Given the description of an element on the screen output the (x, y) to click on. 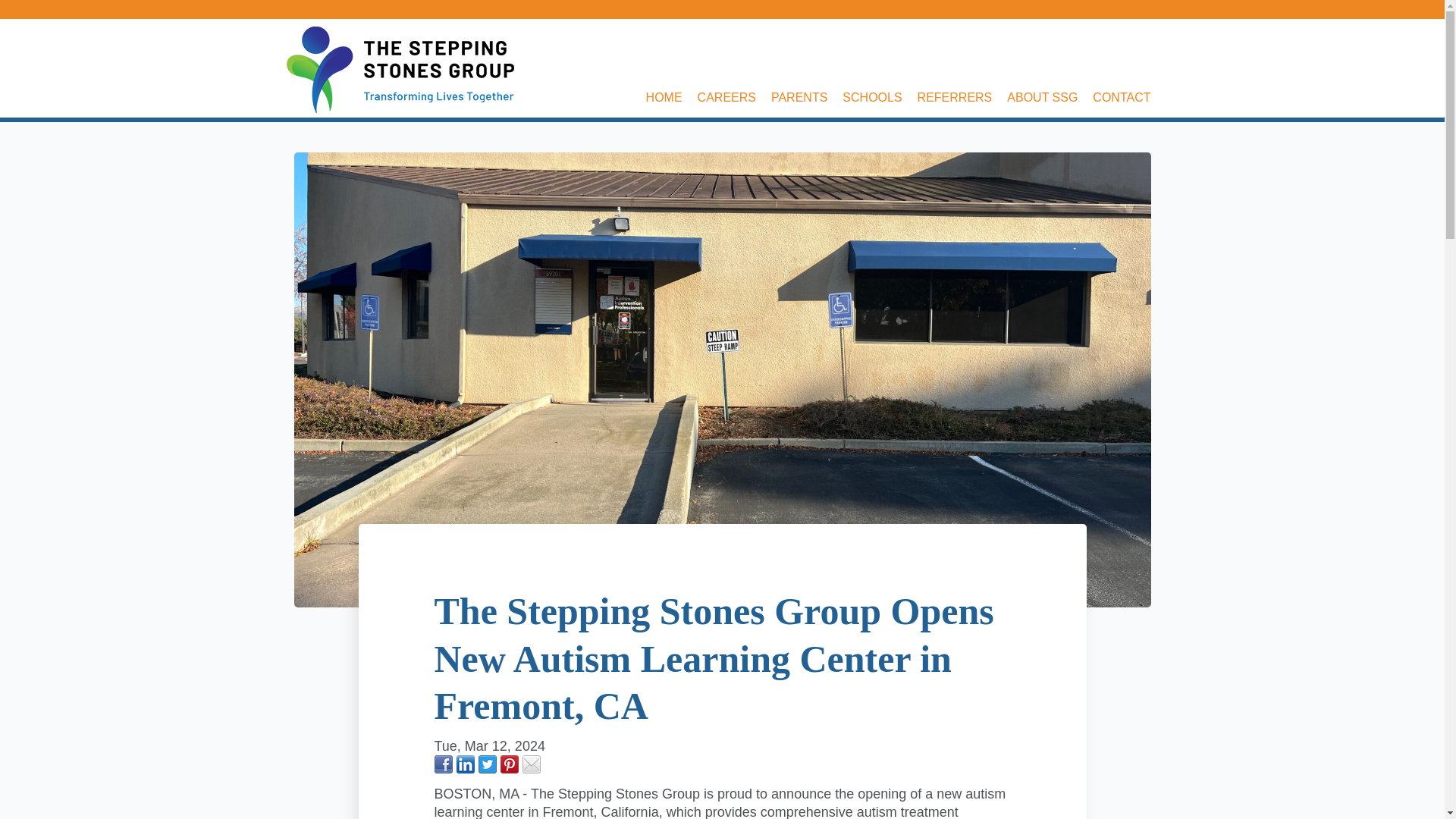
HOME (671, 97)
ABOUT SSG (1050, 97)
REFERRERS (962, 97)
CONTACT (1129, 97)
SCHOOLS (880, 97)
PARENTS (807, 97)
SSG Group Brand (399, 69)
CAREERS (734, 97)
